Given the description of an element on the screen output the (x, y) to click on. 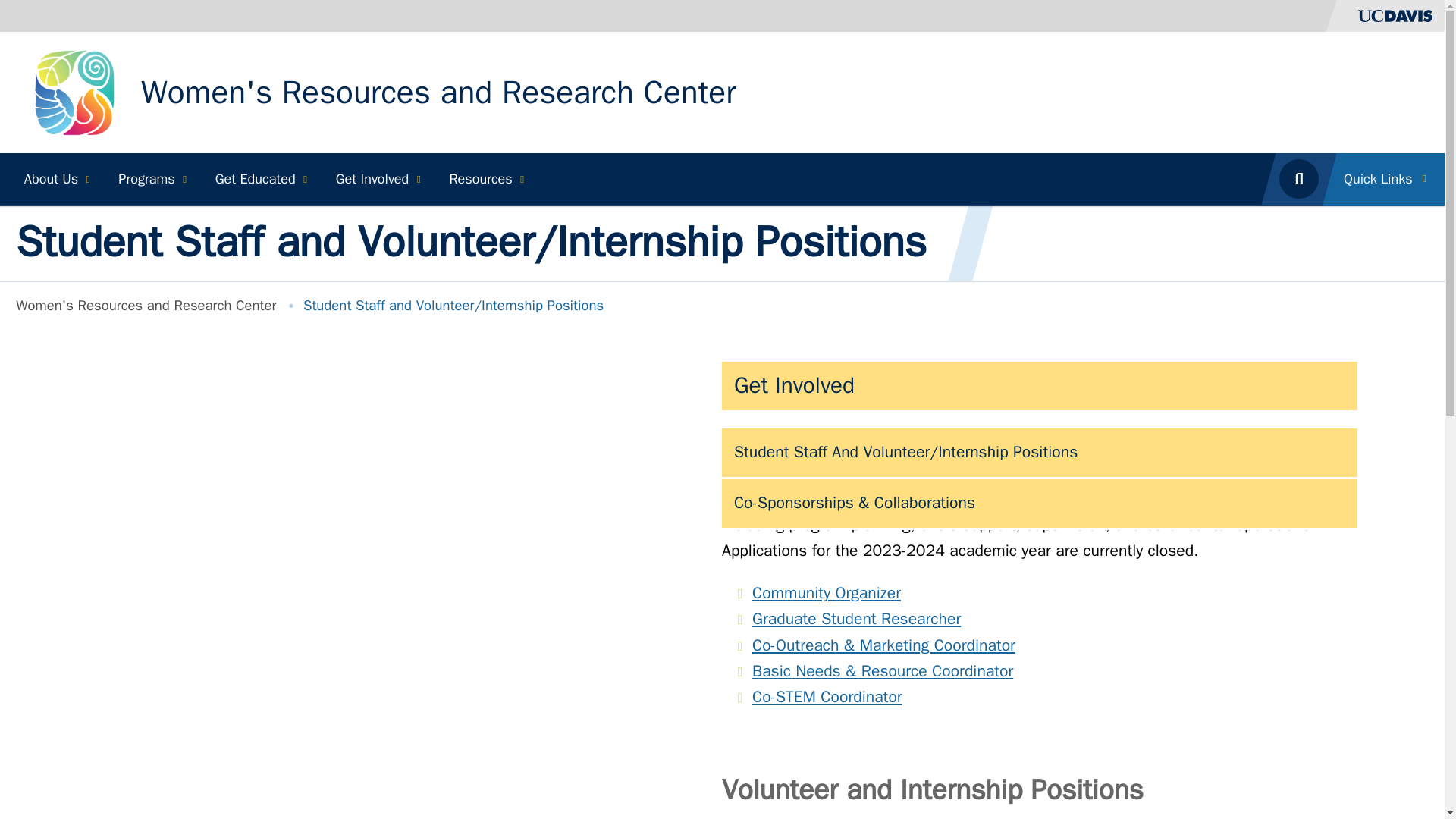
Home (438, 92)
Home (74, 91)
About Us (55, 179)
Women's Resources and Research Center (438, 92)
Programs (150, 179)
